Given the description of an element on the screen output the (x, y) to click on. 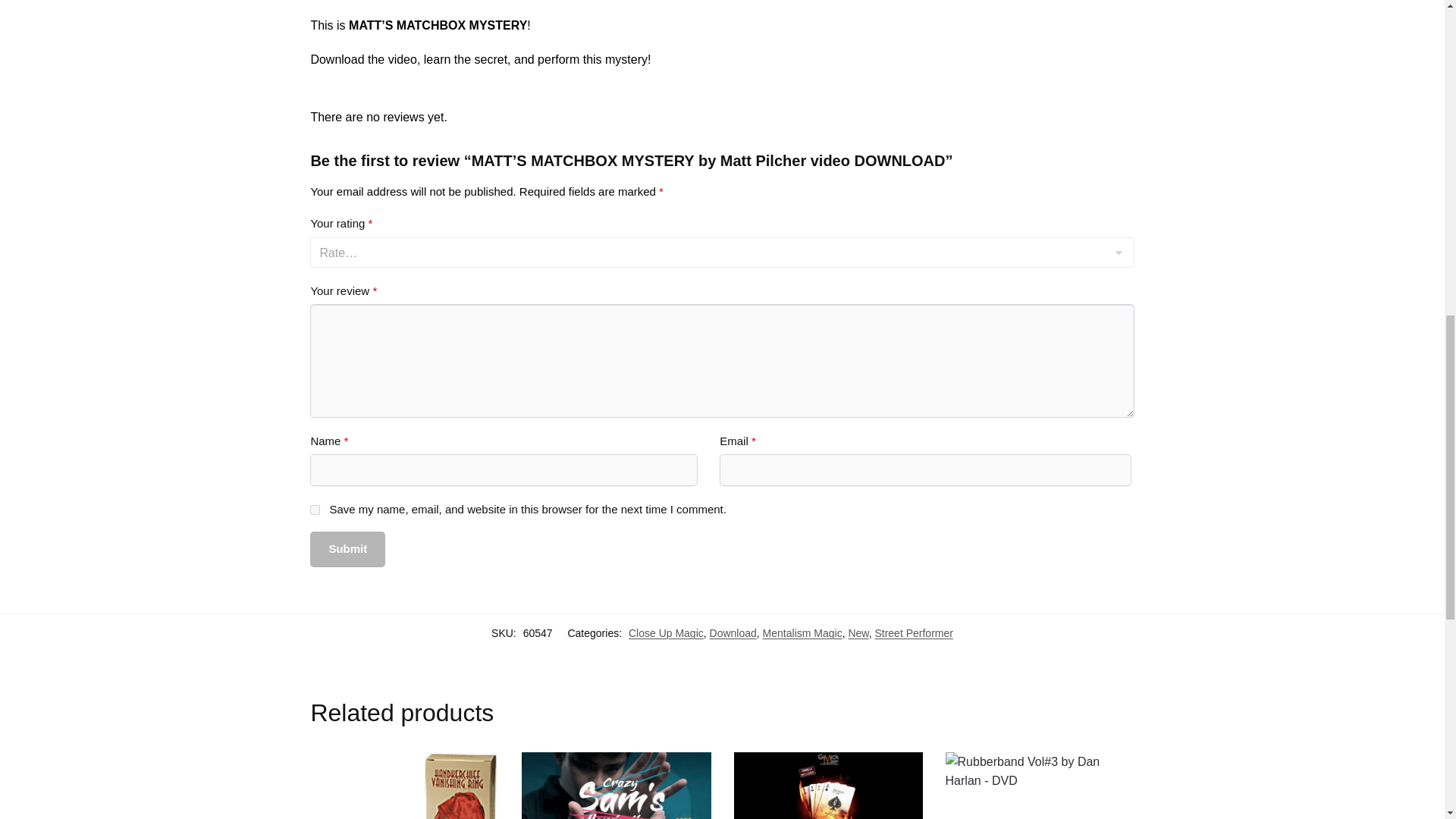
ACES BLUE by Mickael Chatelain (828, 785)
Submit (347, 549)
yes (315, 510)
